Given the description of an element on the screen output the (x, y) to click on. 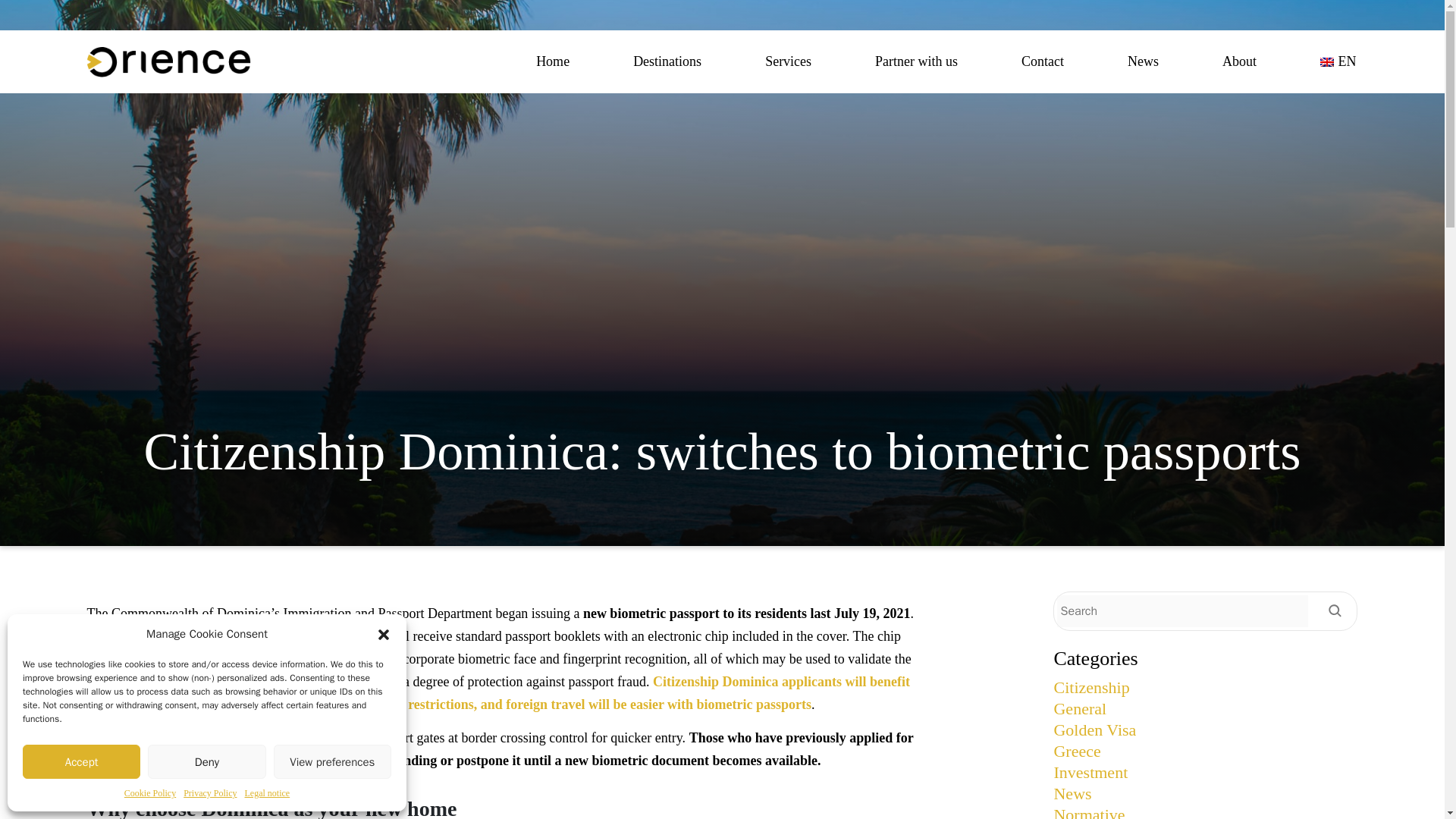
EN (1337, 61)
Cookie Policy (149, 793)
Legal notice (266, 793)
Destinations (667, 61)
Home (552, 61)
View preferences (332, 761)
Deny (206, 761)
Accept (81, 761)
Privacy Policy (209, 793)
